Given the description of an element on the screen output the (x, y) to click on. 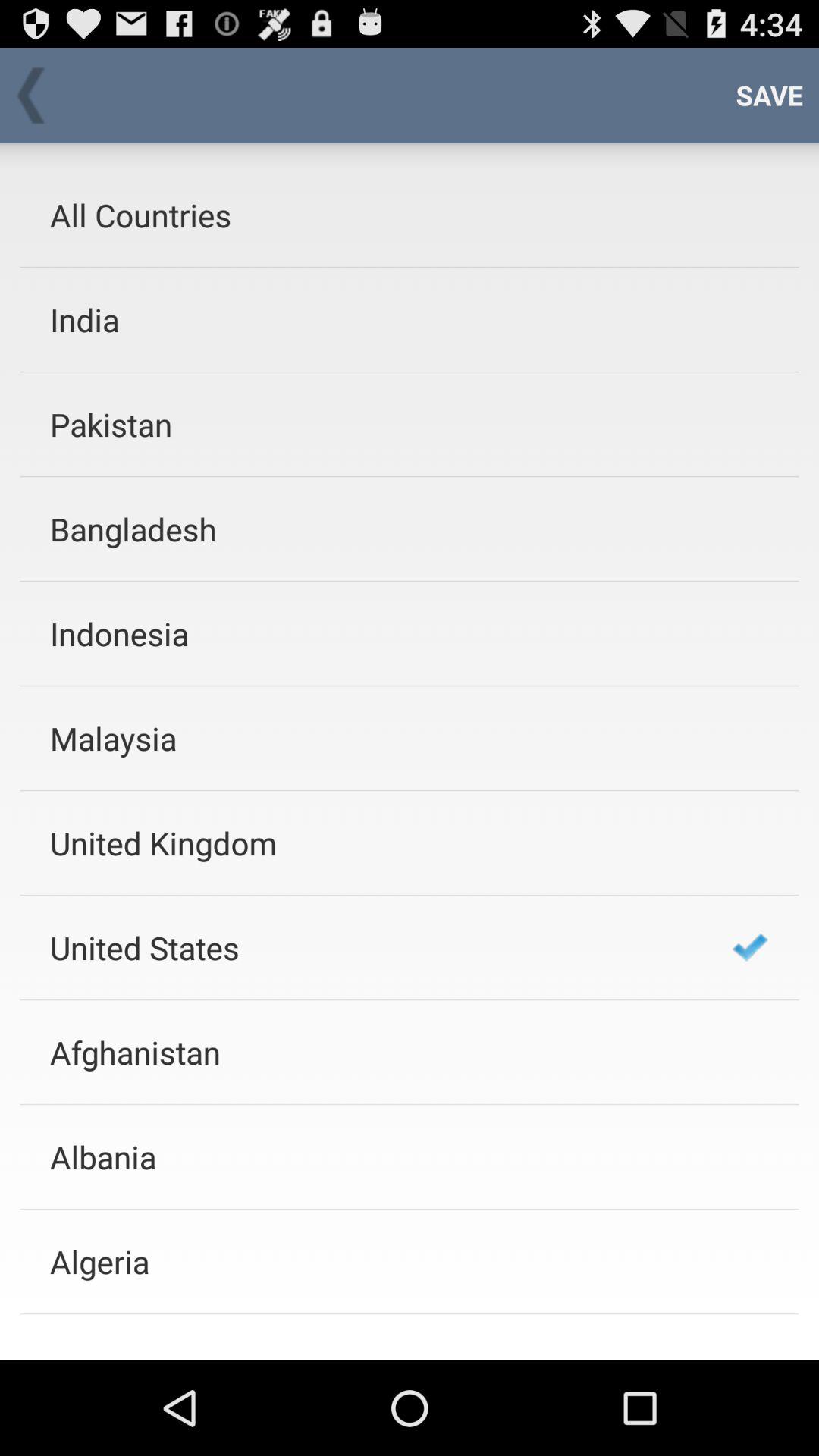
swipe to the bangladesh item (371, 528)
